Given the description of an element on the screen output the (x, y) to click on. 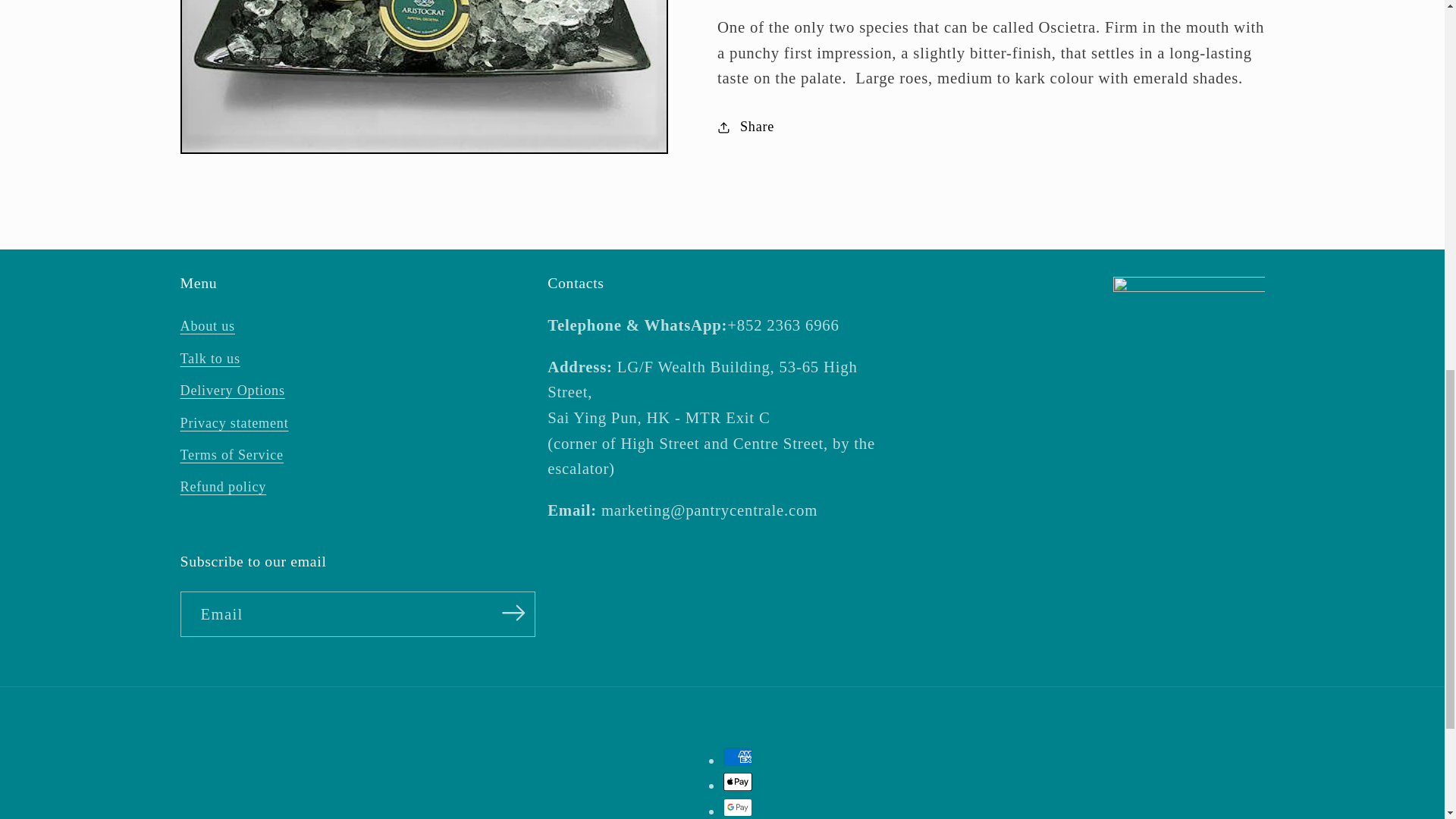
American Express (737, 756)
Apple Pay (737, 782)
Google Pay (737, 807)
